Given the description of an element on the screen output the (x, y) to click on. 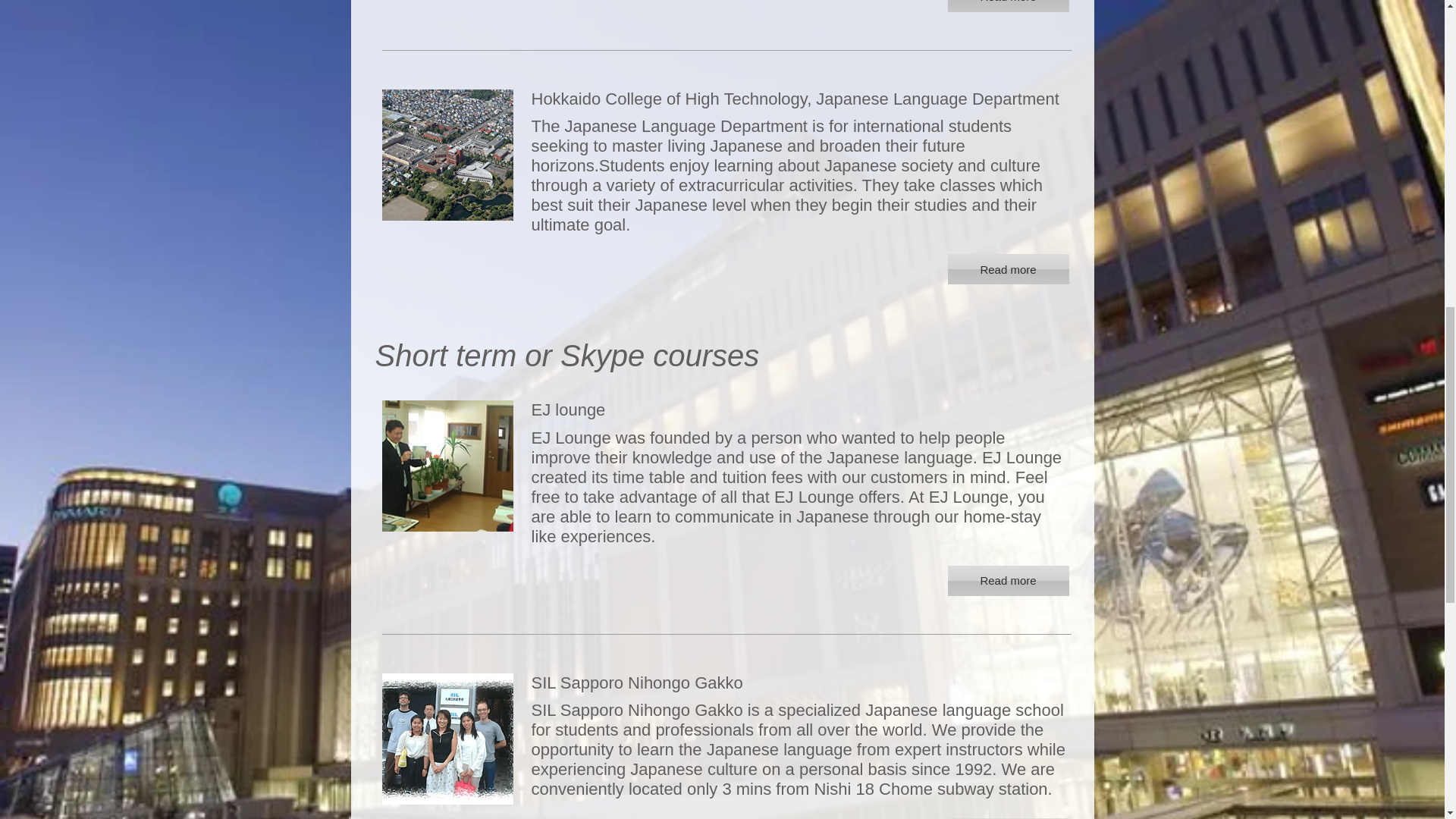
viewfromsky.jpg (447, 154)
Read more (1007, 268)
SIL Sapporo Nihongo Gakko (799, 682)
Read more (1007, 580)
Read more (1007, 6)
EJ lounge (799, 410)
